Given the description of an element on the screen output the (x, y) to click on. 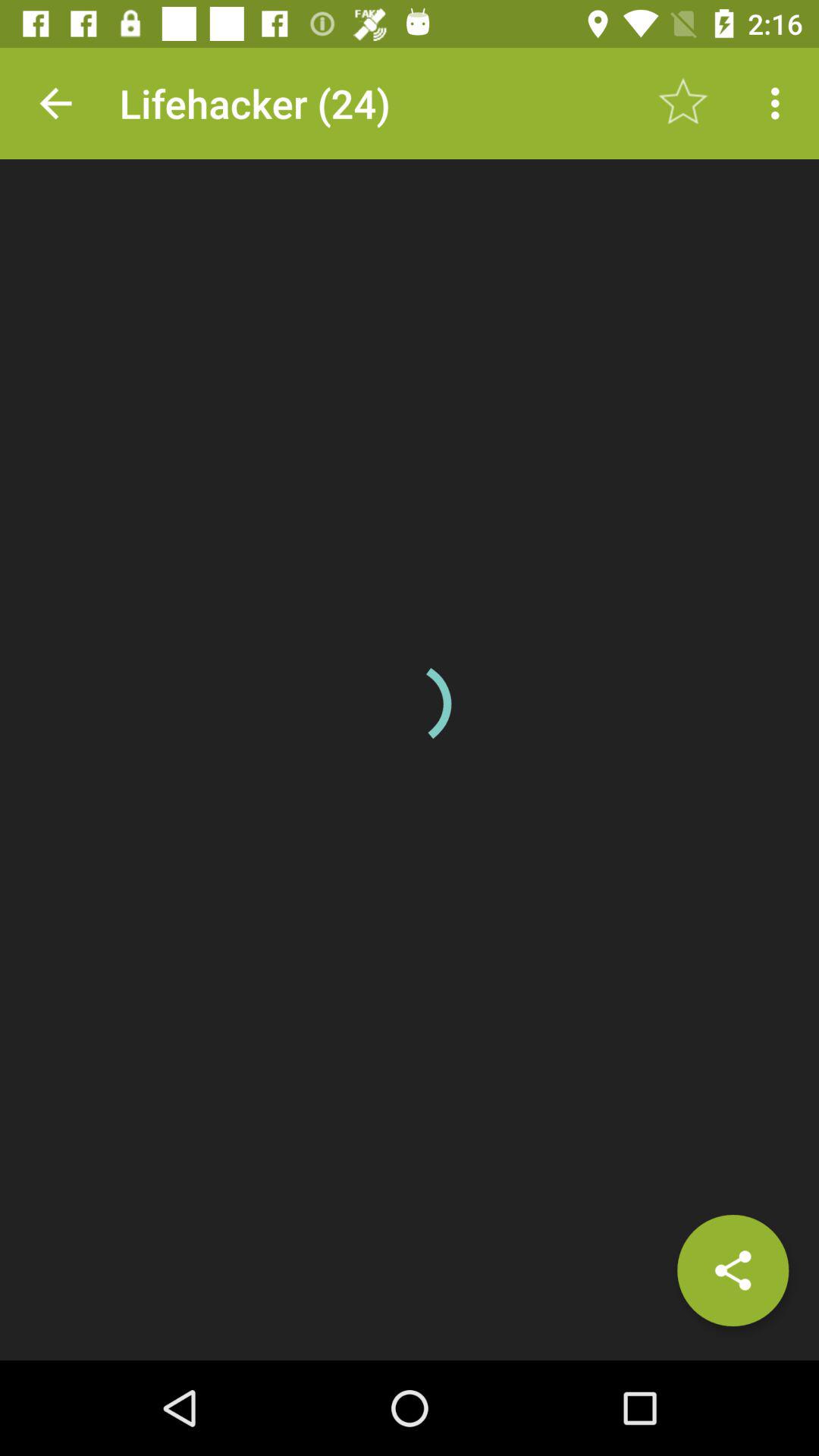
turn off icon next to lifehacker (24) app (55, 103)
